Given the description of an element on the screen output the (x, y) to click on. 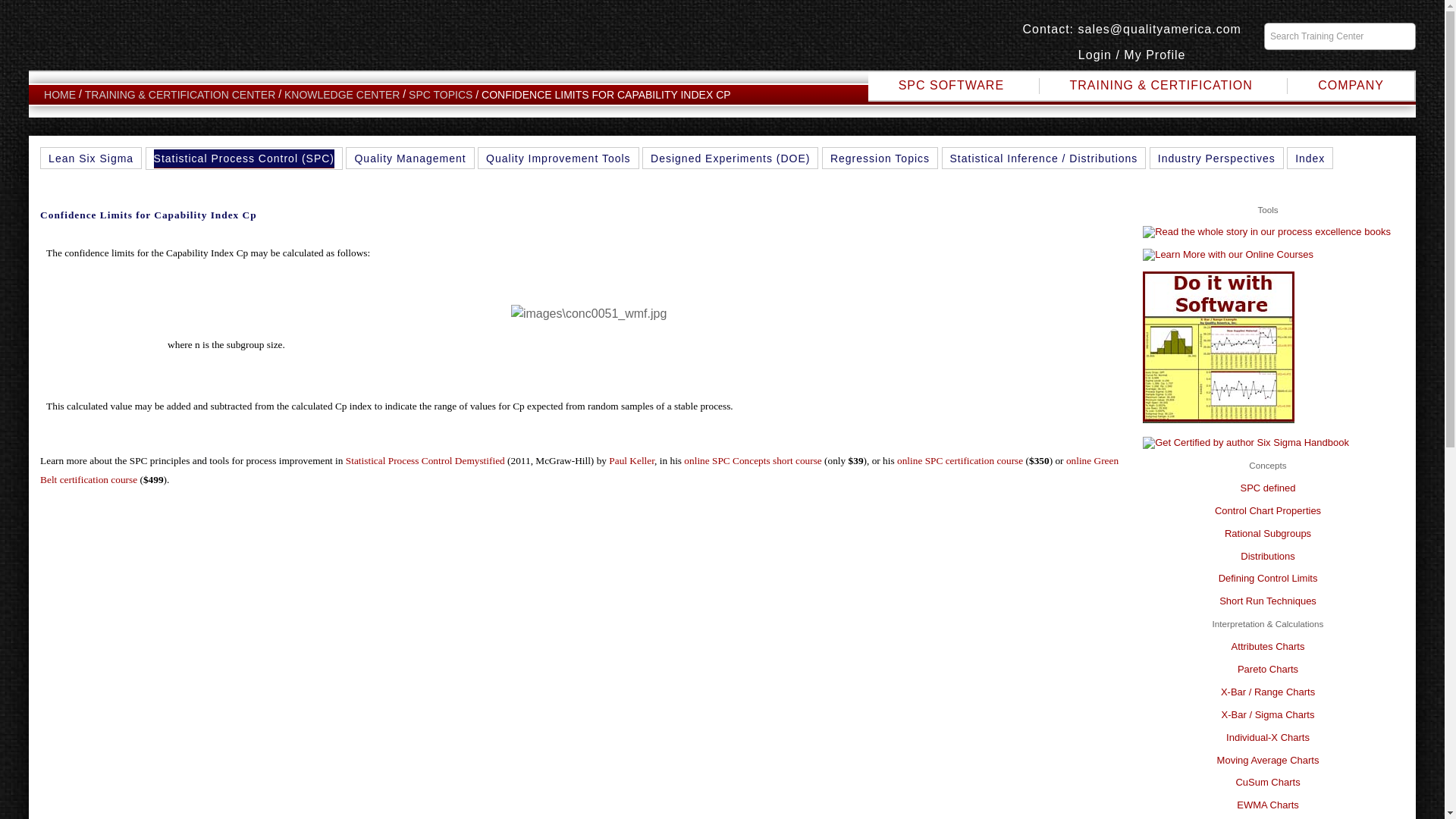
Quality Management (409, 158)
COMPANY (1350, 85)
SPC TOPICS (440, 94)
Go (1401, 36)
HOME (59, 94)
KNOWLEDGE CENTER (340, 94)
Quality Improvement Tools (558, 158)
Regression Topics (879, 158)
Industry Perspectives (1216, 158)
Lean Six Sigma (90, 158)
